Given the description of an element on the screen output the (x, y) to click on. 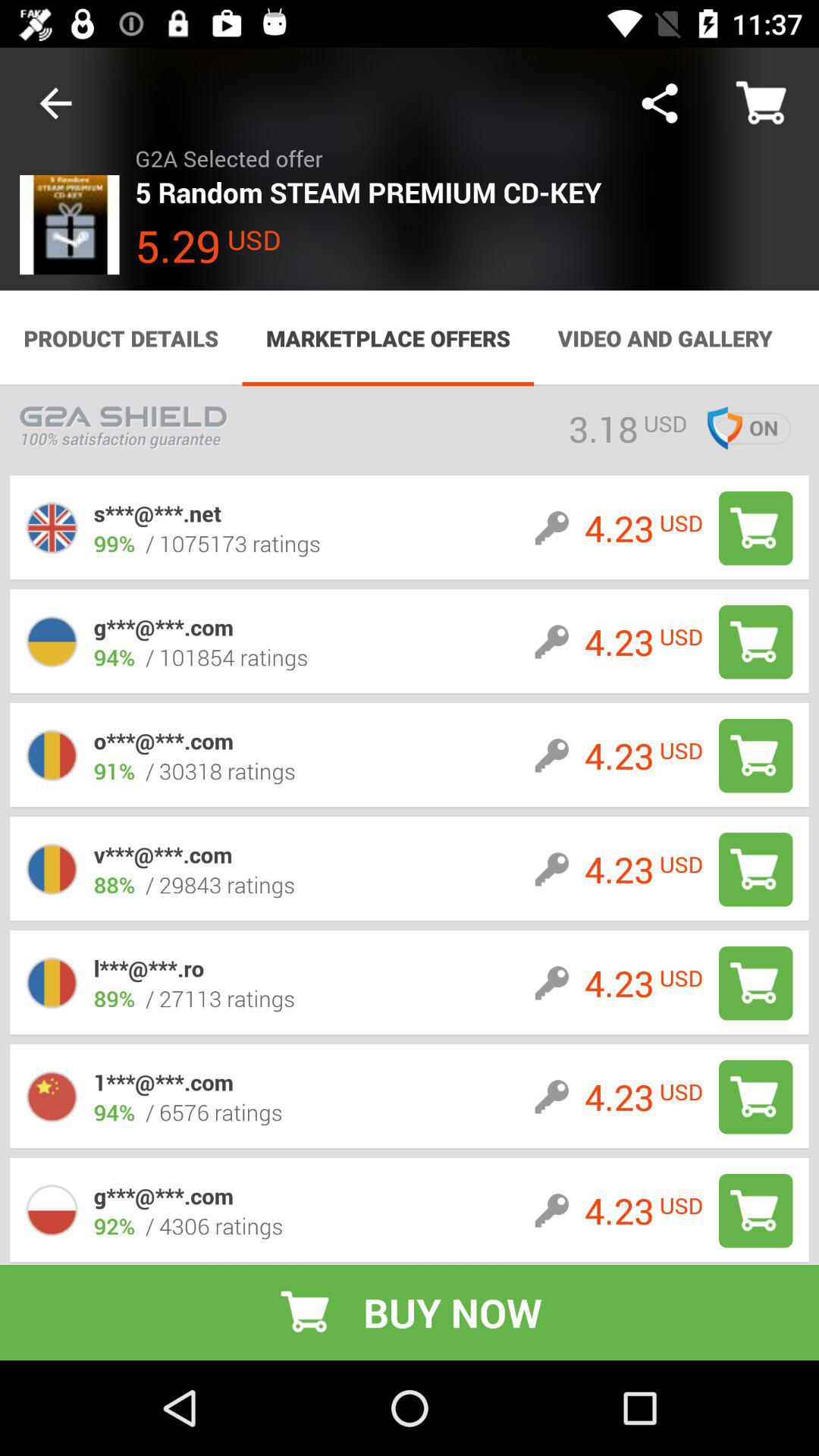
click on the flag image which is left side of the text ocom (51, 755)
select the icon shopping cart which is on the top of the right hand side (763, 103)
select the image which is left to text gcom (51, 641)
